Given the description of an element on the screen output the (x, y) to click on. 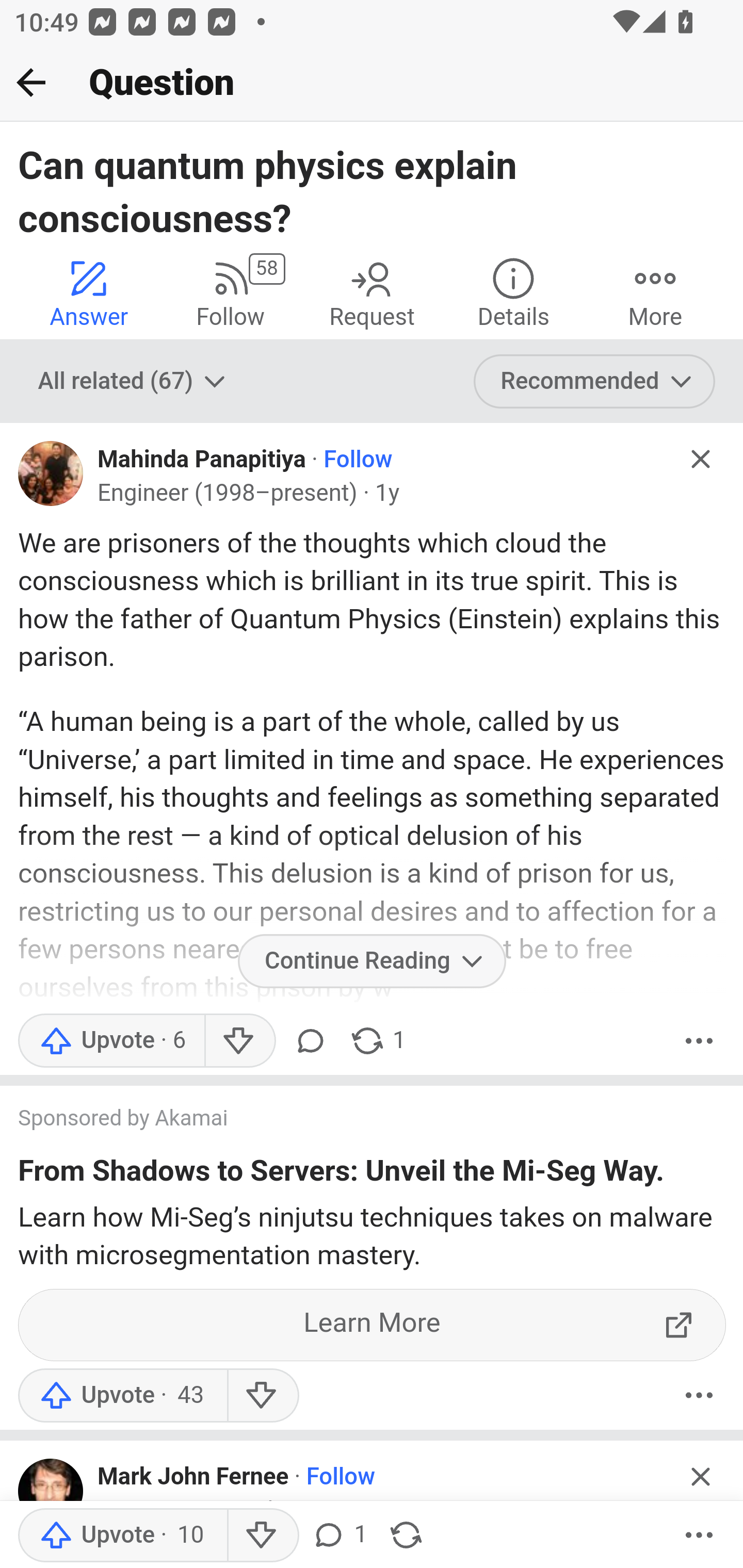
Back Question (371, 82)
Back (30, 82)
Answer (88, 292)
58 Follow (230, 292)
Request (371, 292)
Details (513, 292)
More (655, 292)
All related (67) (133, 381)
Recommended (594, 381)
Hide (700, 459)
Profile photo for Mahinda Panapitiya (50, 473)
Mahinda Panapitiya (201, 459)
Follow (358, 459)
1y 1 y (387, 493)
Continue Reading (371, 961)
Upvote (111, 1040)
Downvote (238, 1040)
Comment (310, 1040)
1 share (377, 1040)
More (699, 1040)
Sponsored by Akamai (352, 1120)
From Shadows to Servers: Unveil the Mi-Seg Way. (341, 1174)
Learn More ExternalLink (372, 1324)
Upvote (122, 1395)
Downvote (262, 1395)
More (699, 1395)
Hide (700, 1475)
Profile photo for Mark John Fernee (50, 1491)
Mark John Fernee (193, 1477)
Follow (339, 1477)
5y 5 y (377, 1510)
Upvote (122, 1535)
Downvote (262, 1535)
1 comment (338, 1535)
Share (405, 1535)
More (699, 1535)
